Given the description of an element on the screen output the (x, y) to click on. 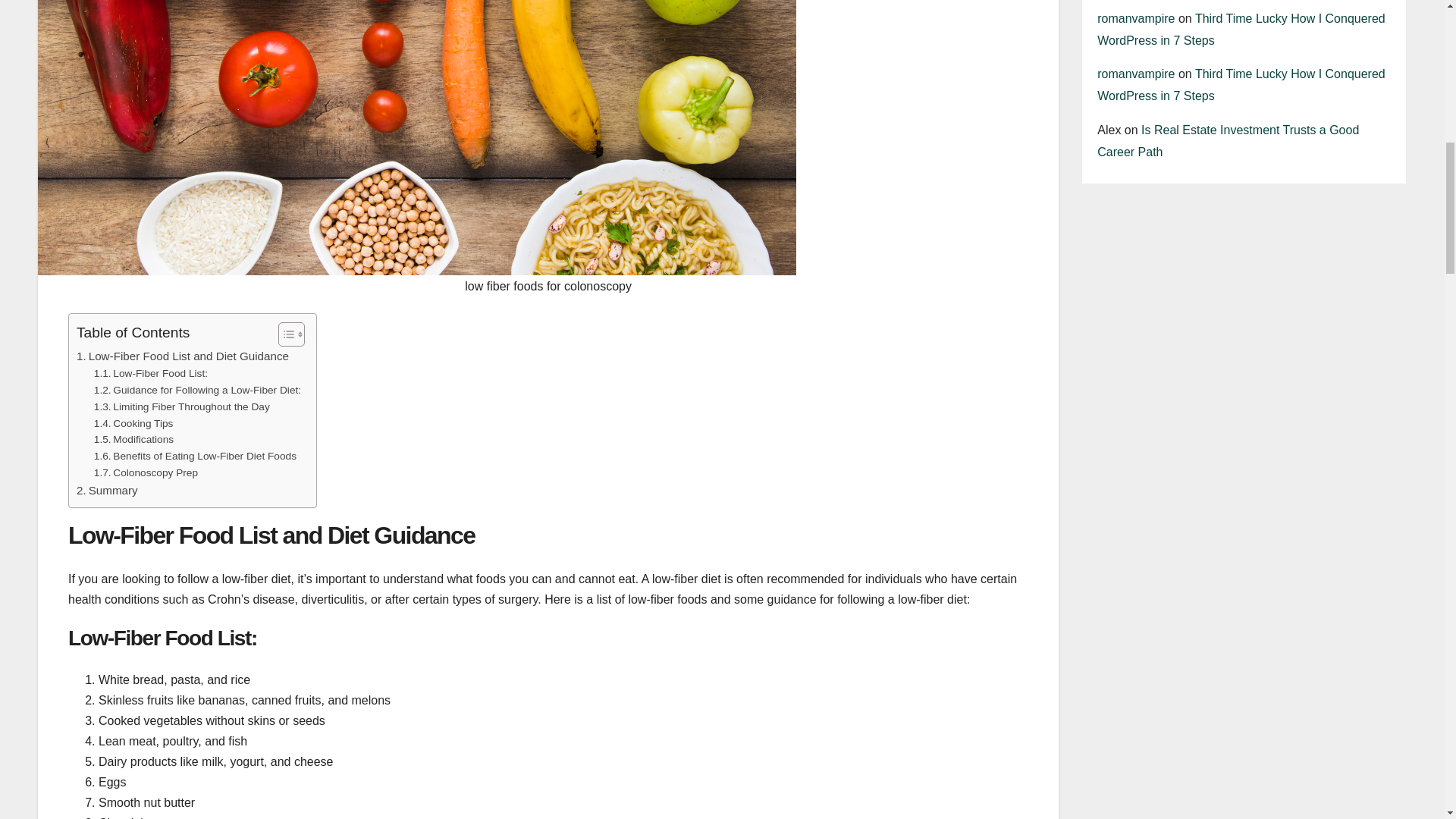
Low-Fiber Food List: (151, 373)
Colonoscopy Prep (146, 473)
Modifications (133, 439)
Low-Fiber Food List and Diet Guidance (182, 356)
Cooking Tips (133, 423)
Guidance for Following a Low-Fiber Diet: (197, 390)
Summary (107, 490)
Benefits of Eating Low-Fiber Diet Foods (195, 456)
Limiting Fiber Throughout the Day (181, 406)
Low-Fiber Food List: (151, 373)
Guidance for Following a Low-Fiber Diet: (197, 390)
Modifications (133, 439)
Limiting Fiber Throughout the Day (181, 406)
Low-Fiber Food List and Diet Guidance (182, 356)
